Given the description of an element on the screen output the (x, y) to click on. 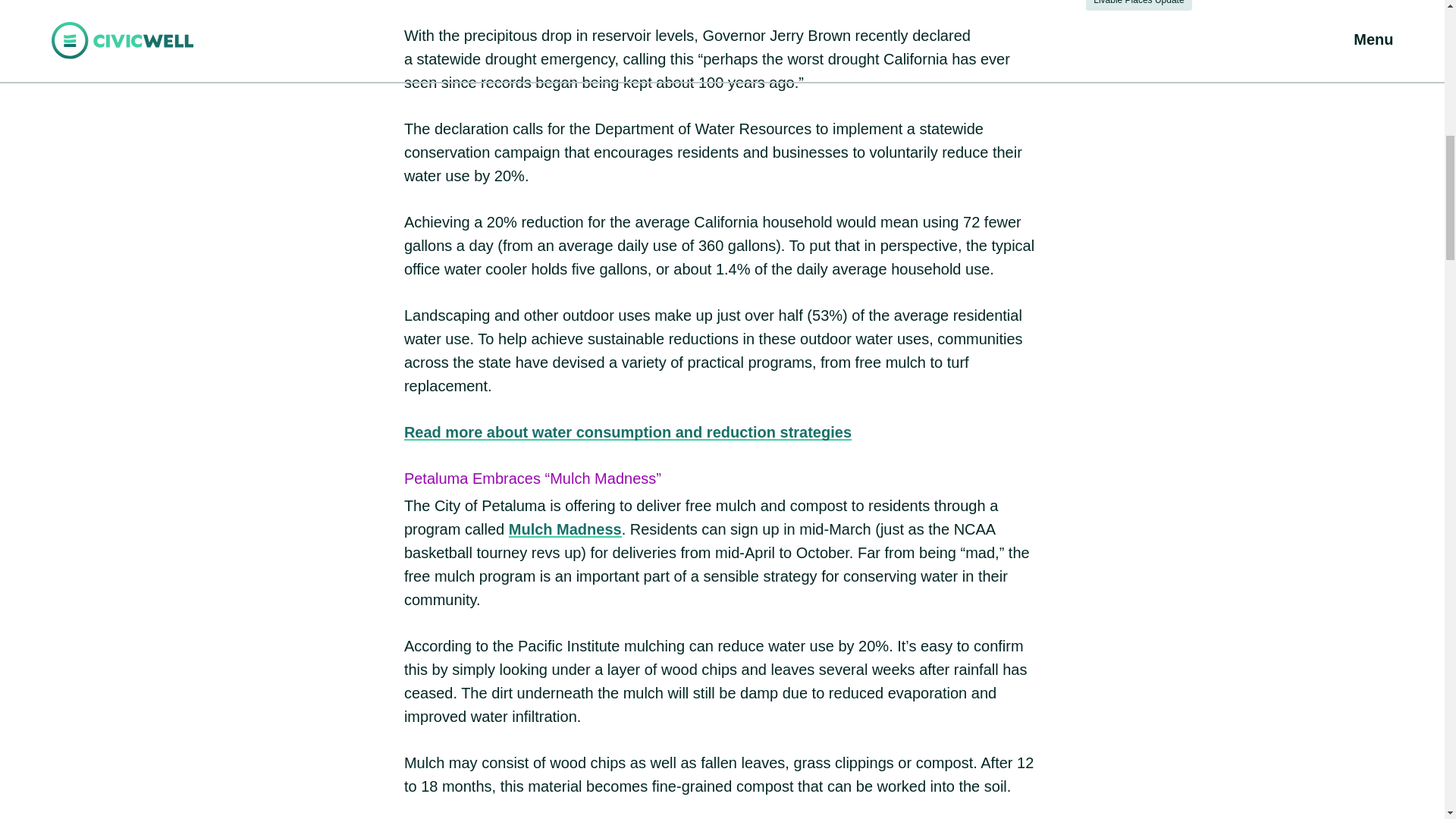
Read more about water consumption and reduction strategies (627, 432)
Livable Places Update (1138, 5)
Mulch Madness (564, 528)
